Given the description of an element on the screen output the (x, y) to click on. 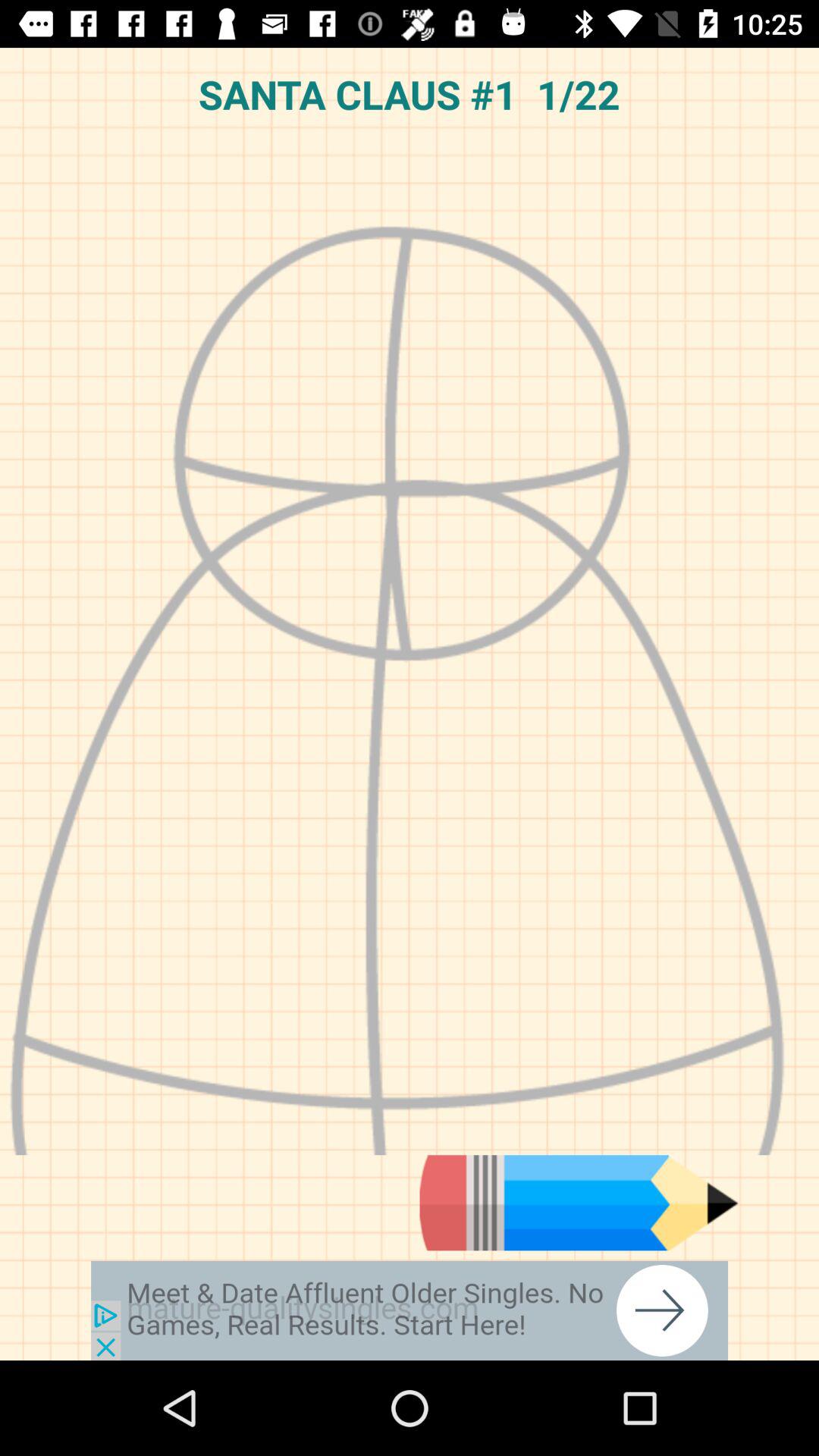
draw (578, 1202)
